Given the description of an element on the screen output the (x, y) to click on. 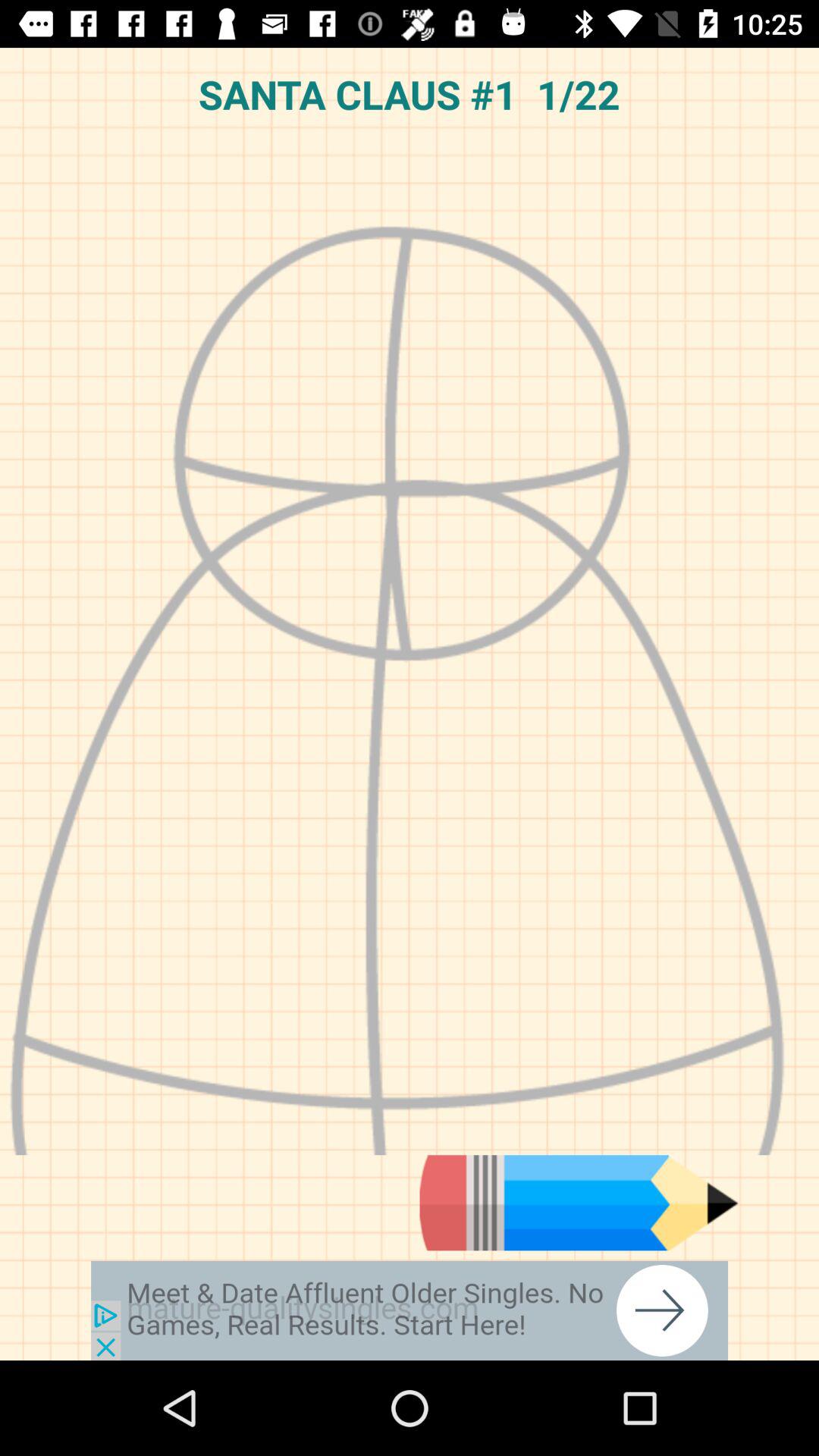
draw (578, 1202)
